Given the description of an element on the screen output the (x, y) to click on. 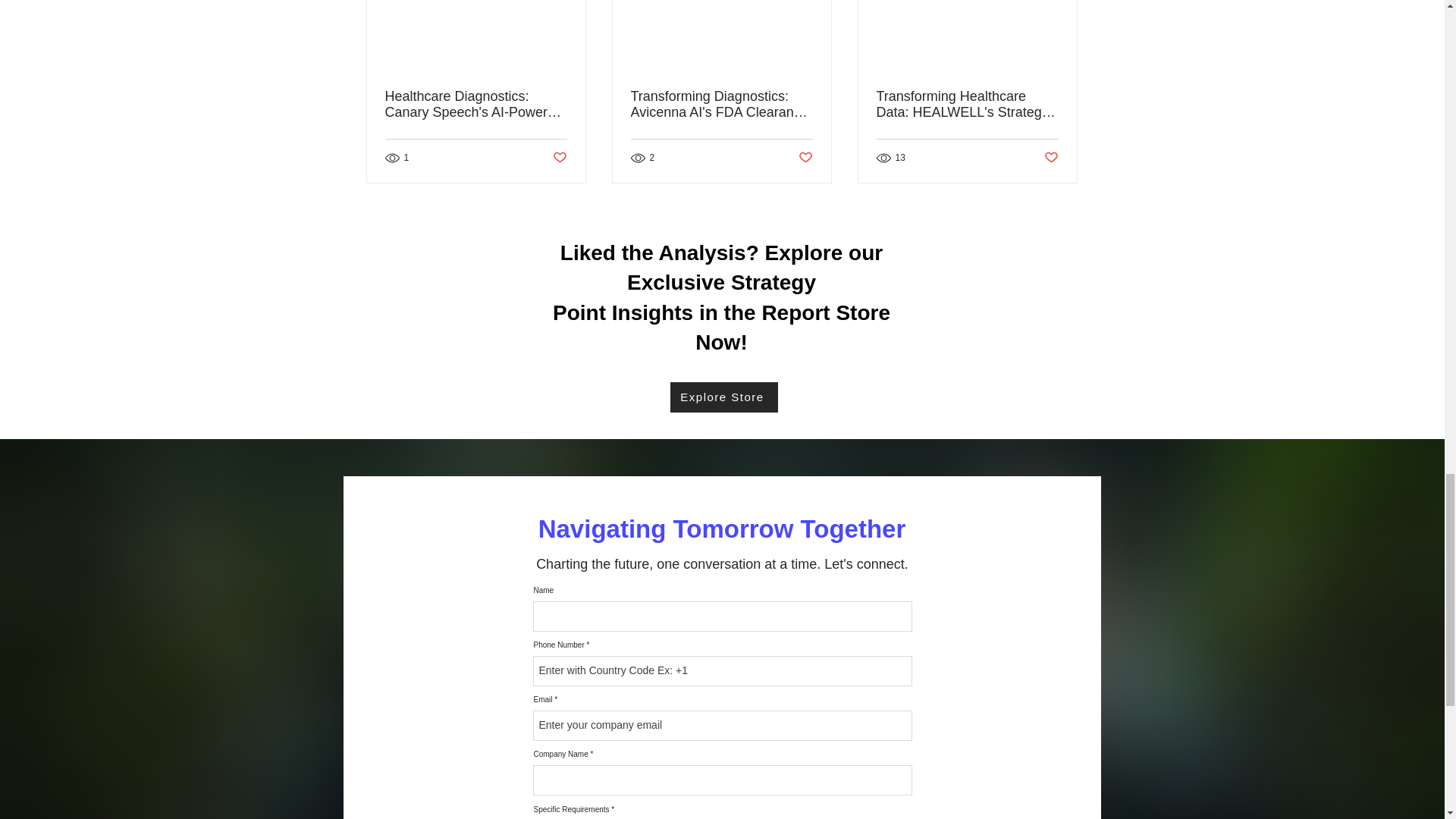
Post not marked as liked (558, 157)
